Given the description of an element on the screen output the (x, y) to click on. 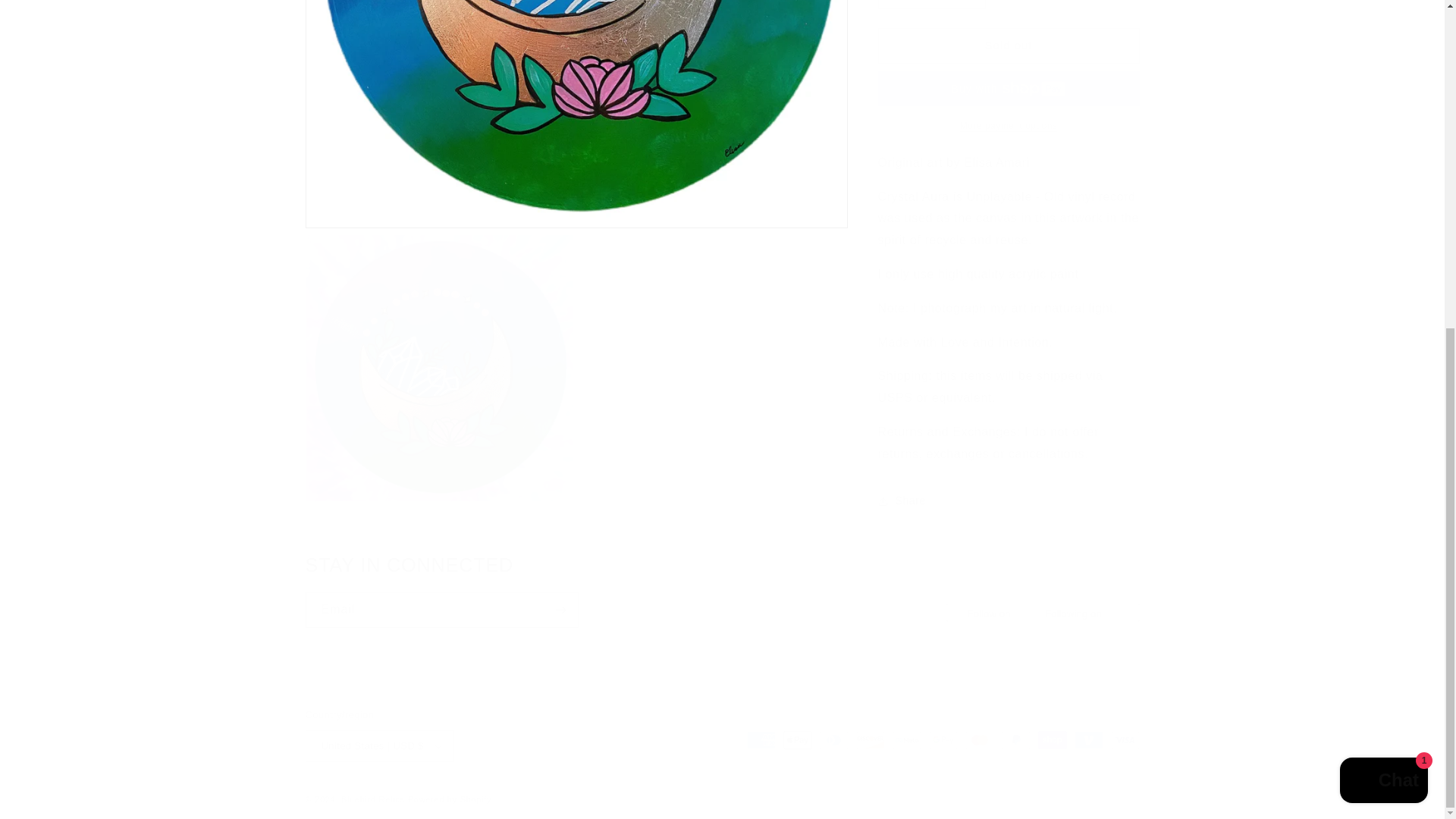
Open media 1 in modal (575, 106)
Open media 2 in modal (438, 353)
Shopify online store chat (721, 590)
